Given the description of an element on the screen output the (x, y) to click on. 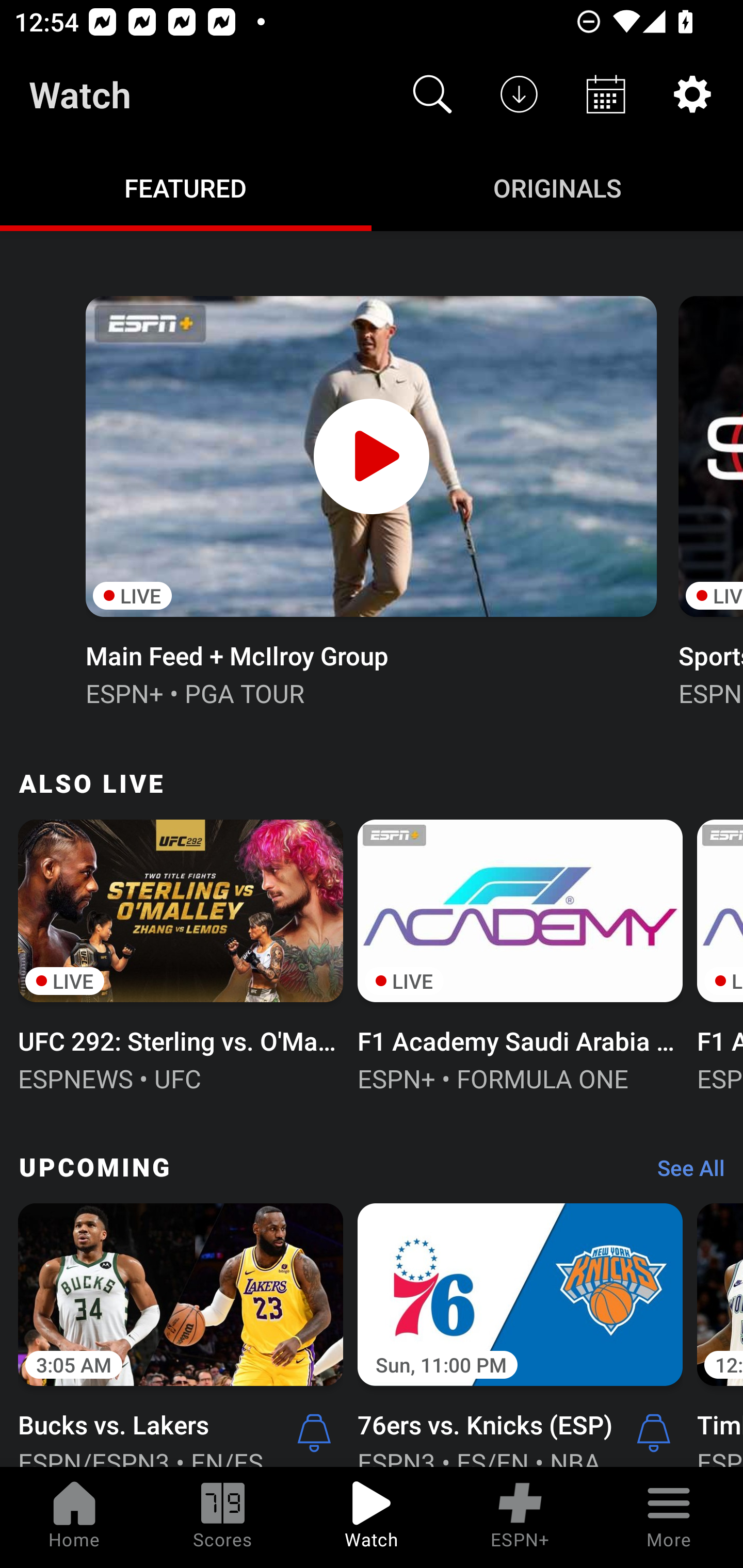
Search (432, 93)
Downloads (518, 93)
Schedule (605, 93)
Settings (692, 93)
Originals ORIGINALS (557, 187)
 LIVE Main Feed + McIlroy Group ESPN+ • PGA TOUR (370, 499)
LIVE UFC 292: Sterling vs. O'Malley ESPNEWS • UFC (180, 954)
See All (683, 1172)
Alerts (314, 1432)
Alerts (653, 1432)
Home (74, 1517)
Scores (222, 1517)
ESPN+ (519, 1517)
More (668, 1517)
